Given the description of an element on the screen output the (x, y) to click on. 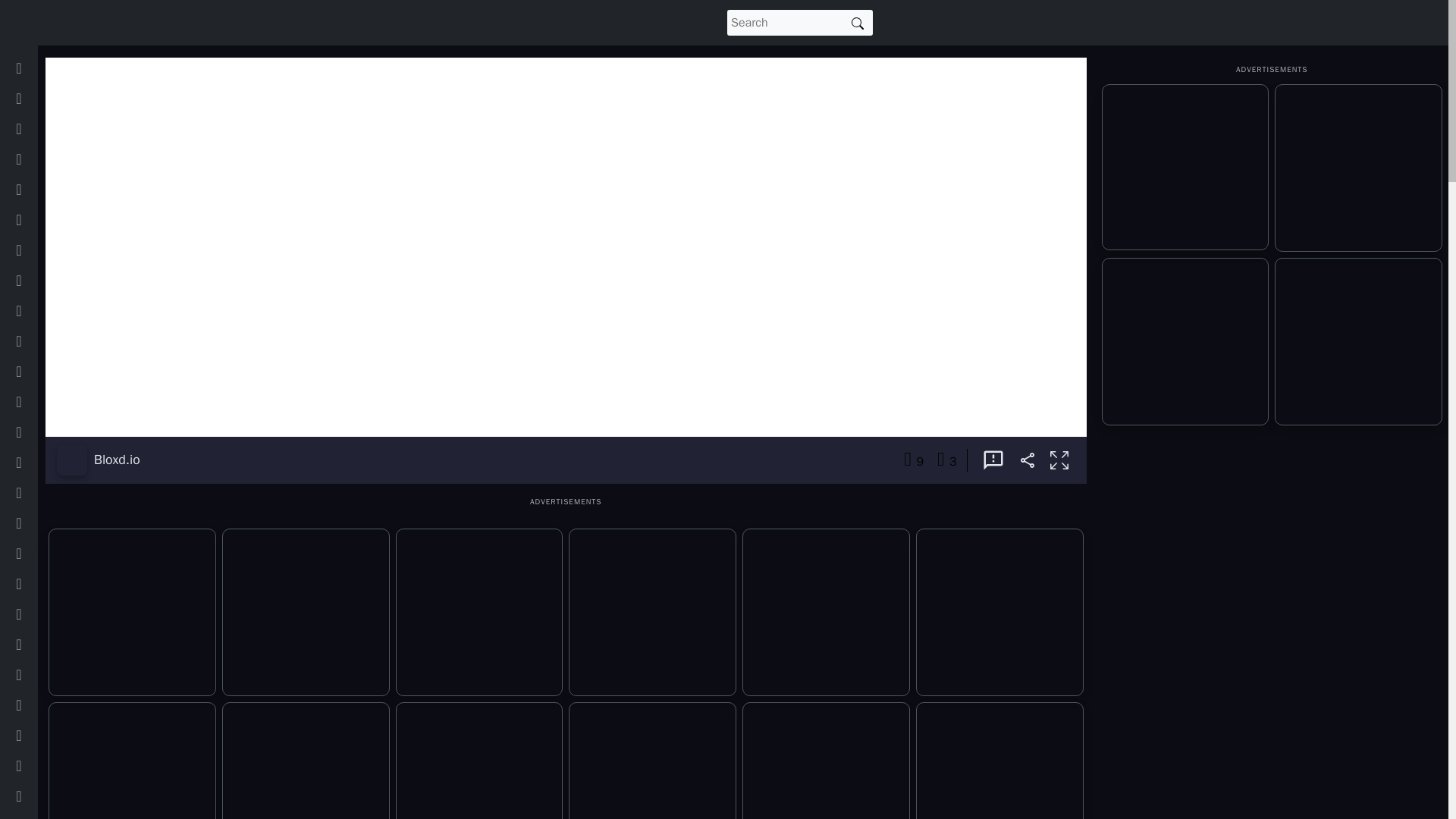
Search (857, 22)
Multiplayer (49, 613)
9 (913, 459)
Word (34, 815)
Racing (39, 766)
Quiz (33, 431)
Sports (39, 522)
Action (37, 159)
Report a bug (992, 459)
Trending (43, 128)
